Given the description of an element on the screen output the (x, y) to click on. 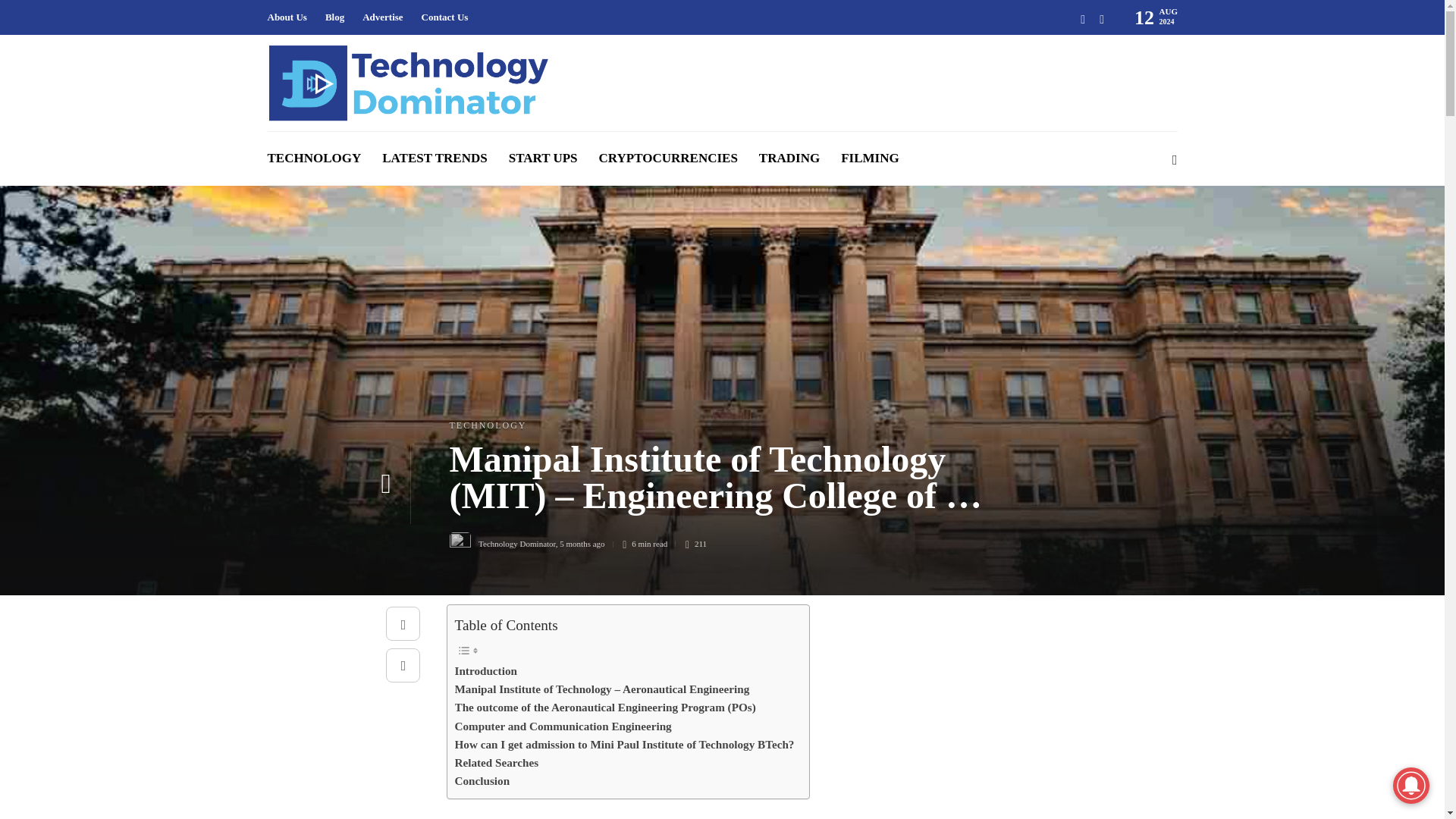
Advertise (382, 17)
Technology Dominator (517, 542)
TECHNOLOGY (313, 158)
Conclusion (482, 781)
Contact Us (445, 17)
START UPS (543, 158)
Computer and Communication Engineering (562, 726)
CRYPTOCURRENCIES (668, 158)
TECHNOLOGY (486, 425)
Introduction (485, 670)
